Given the description of an element on the screen output the (x, y) to click on. 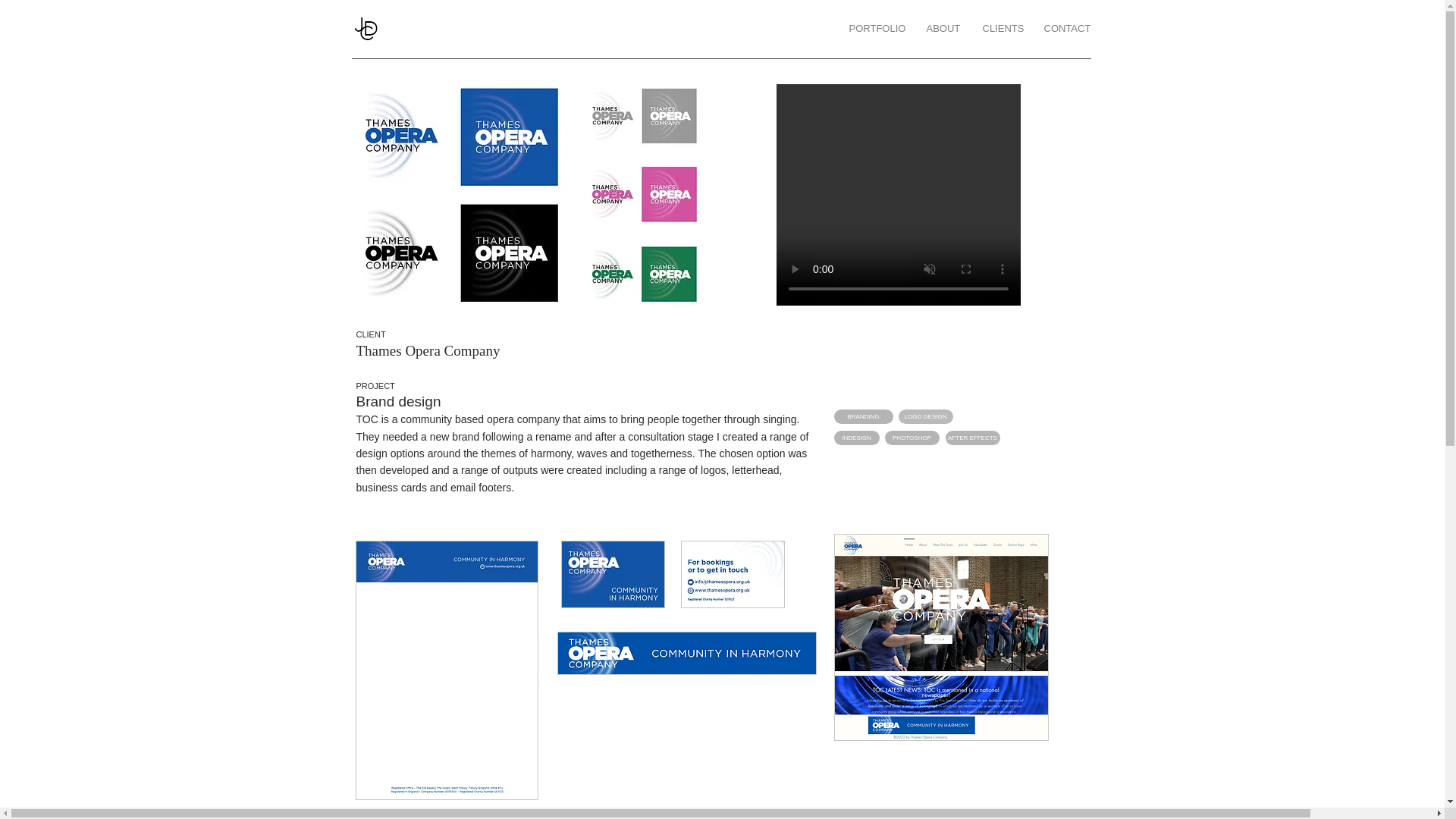
ABOUT (942, 28)
PORTFOLIO (875, 28)
CLIENTS (1001, 28)
CONTACT (1067, 28)
